Given the description of an element on the screen output the (x, y) to click on. 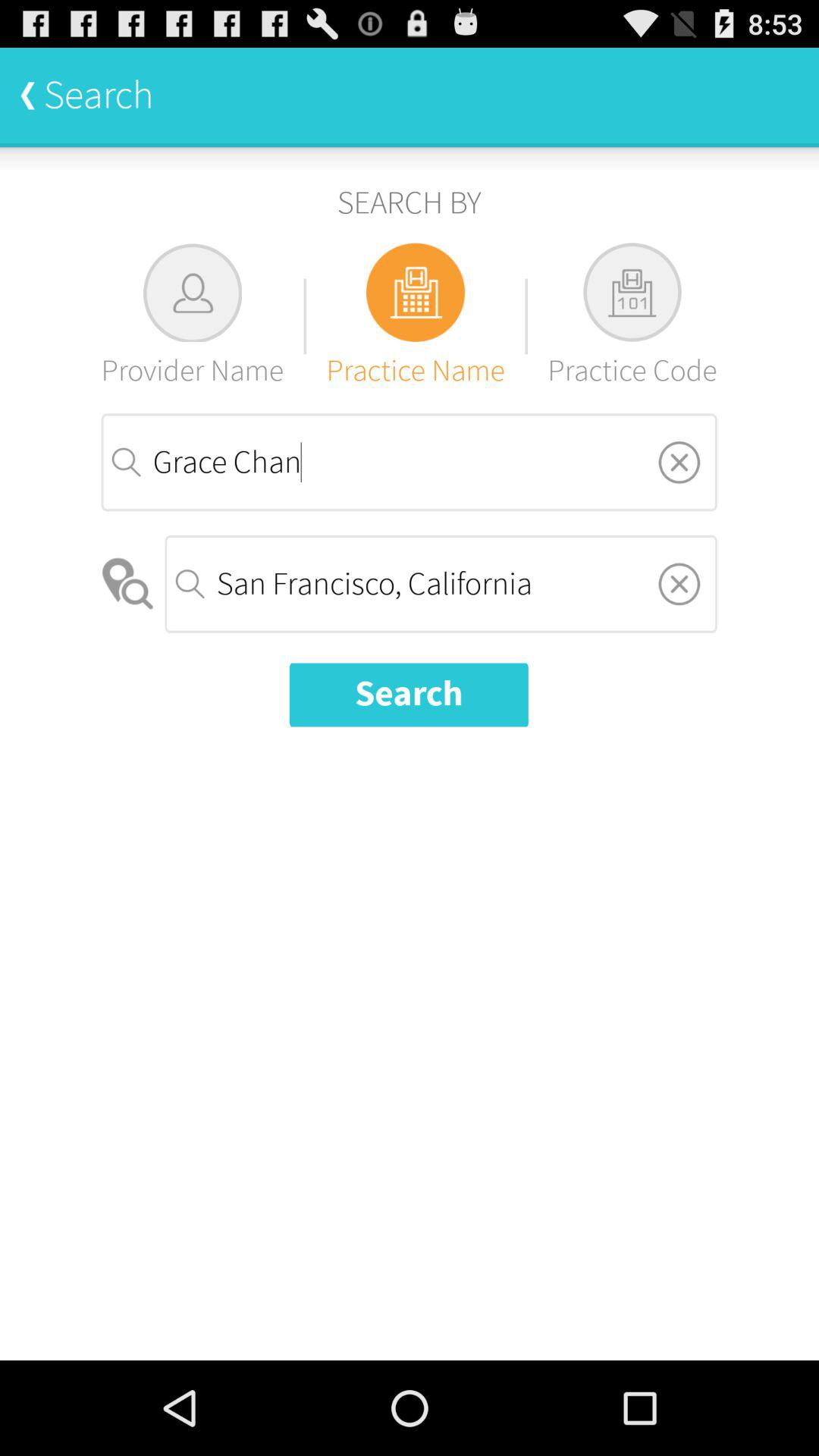
remove text (679, 462)
